Given the description of an element on the screen output the (x, y) to click on. 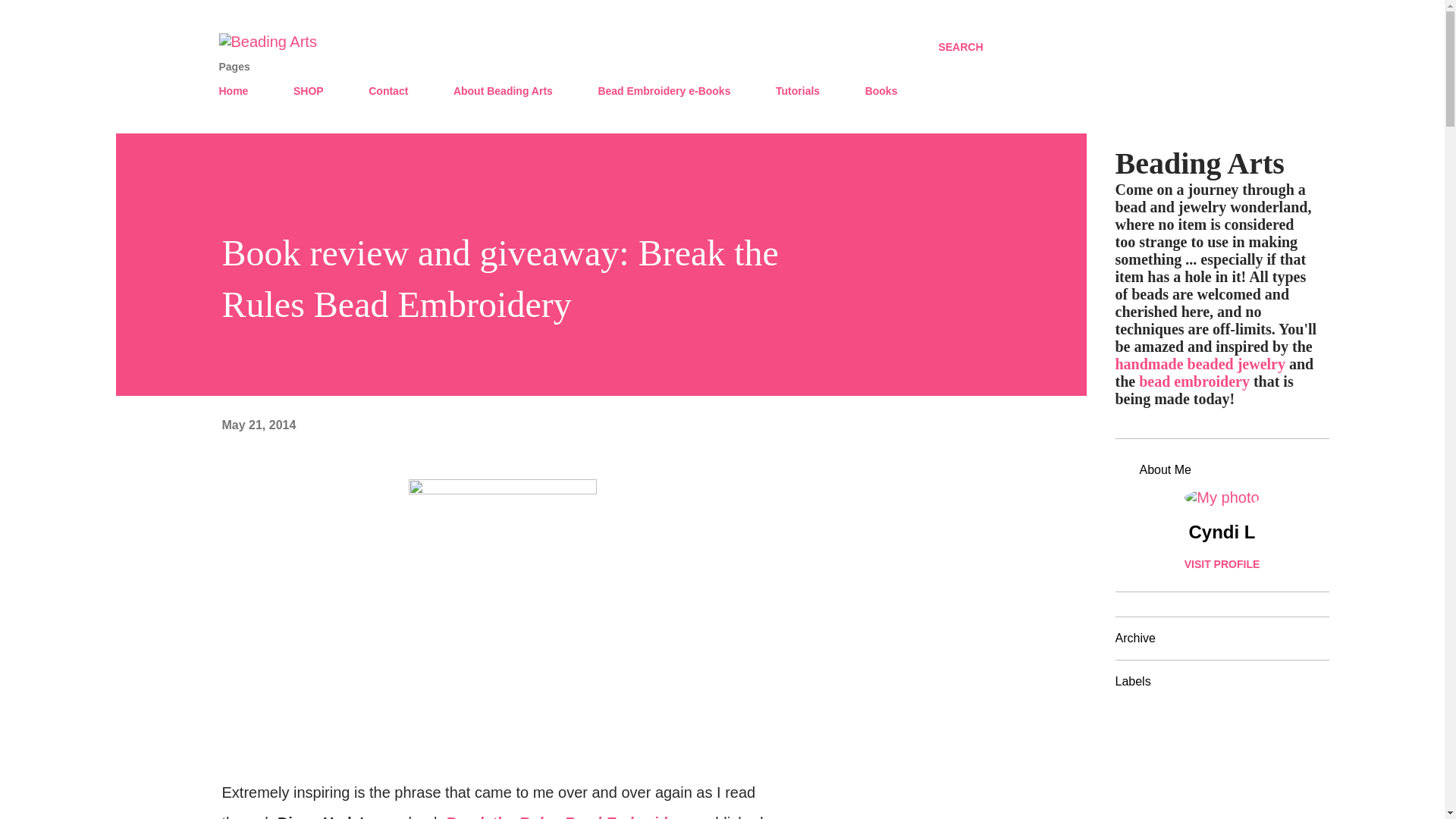
Tutorials (797, 91)
May 21, 2014 (258, 424)
About Beading Arts (503, 91)
Contact (387, 91)
Bead Embroidery e-Books (663, 91)
SEARCH (959, 46)
Books (881, 91)
SHOP (308, 91)
Home (237, 91)
permanent link (258, 424)
Break the Rules Bead Embroidery (566, 816)
